Given the description of an element on the screen output the (x, y) to click on. 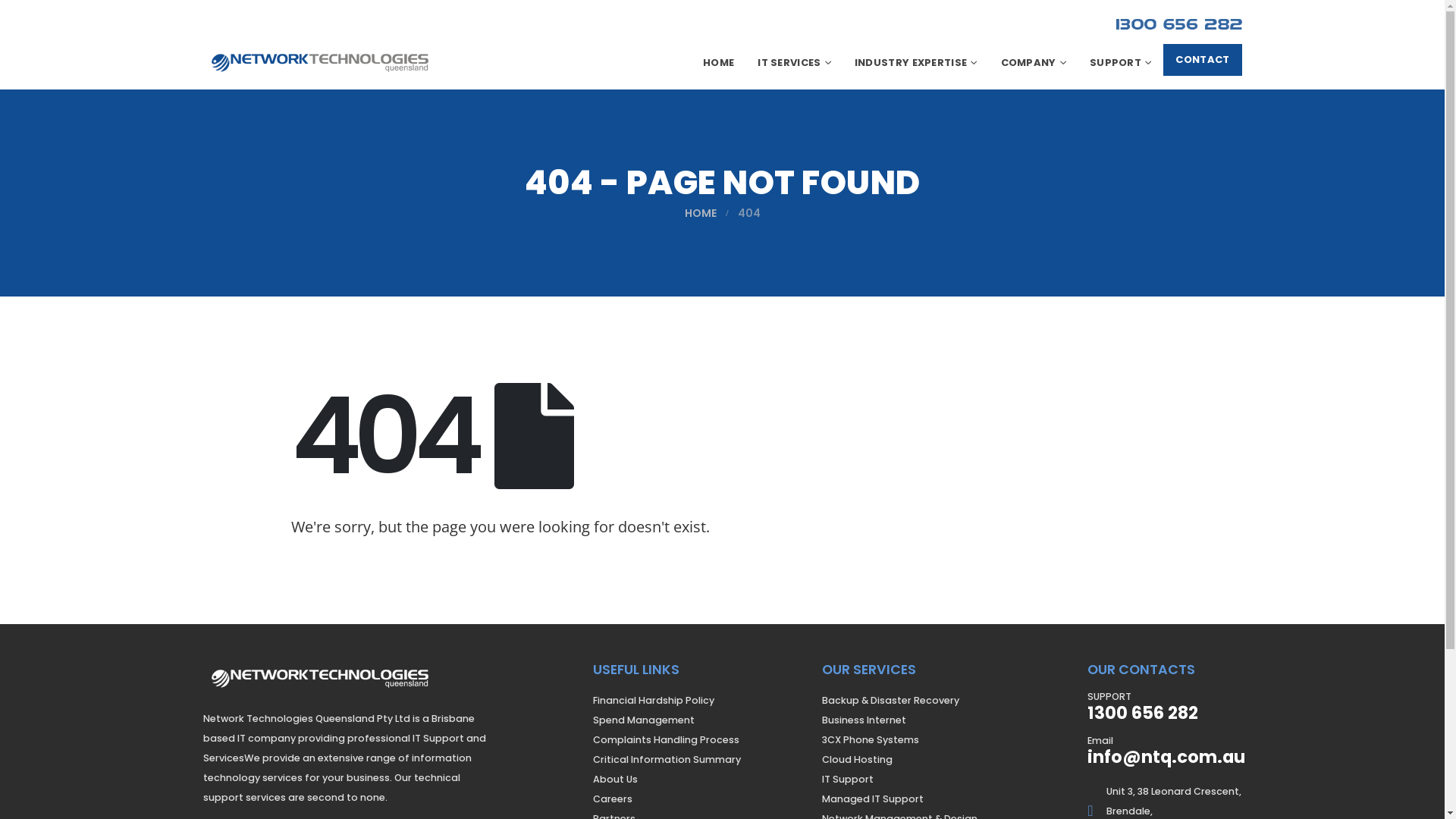
Critical Information Summary Element type: text (666, 759)
Spend Management Element type: text (643, 719)
IT SERVICES Element type: text (794, 62)
Network Technologies Queensland - IT Support Brisbane Element type: hover (319, 62)
SUPPORT Element type: text (1120, 62)
Complaints Handling Process Element type: text (666, 739)
HOME Element type: text (718, 62)
Careers Element type: text (612, 798)
Business Internet Element type: text (864, 719)
COMPANY Element type: text (1033, 62)
IT Support Element type: text (847, 778)
info@ntq.com.au Element type: text (1166, 756)
3CX Phone Systems Element type: text (870, 739)
Managed IT Support Element type: text (872, 798)
Network Technologies Queensland - IT Support Brisbane Element type: hover (319, 683)
INDUSTRY EXPERTISE Element type: text (915, 62)
About Us Element type: text (615, 778)
1300 656 282 Element type: text (1142, 712)
Cloud Hosting Element type: text (857, 759)
Financial Hardship Policy Element type: text (653, 699)
Backup & Disaster Recovery Element type: text (890, 699)
CONTACT Element type: text (1202, 59)
HOME Element type: text (699, 212)
